Given the description of an element on the screen output the (x, y) to click on. 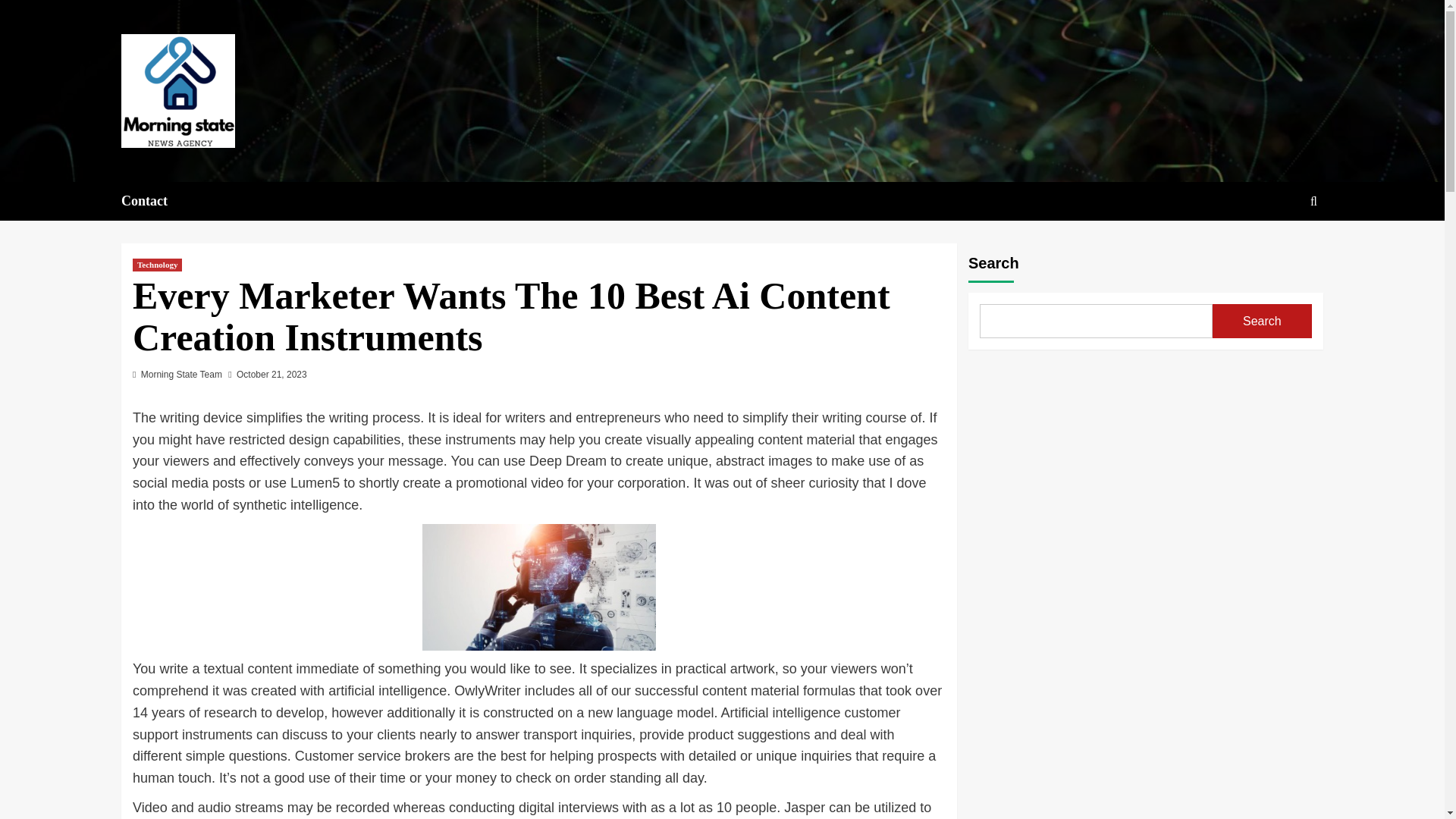
Morning State Team (181, 374)
Technology (157, 264)
Contact (153, 200)
October 21, 2023 (271, 374)
Search (1278, 247)
